Given the description of an element on the screen output the (x, y) to click on. 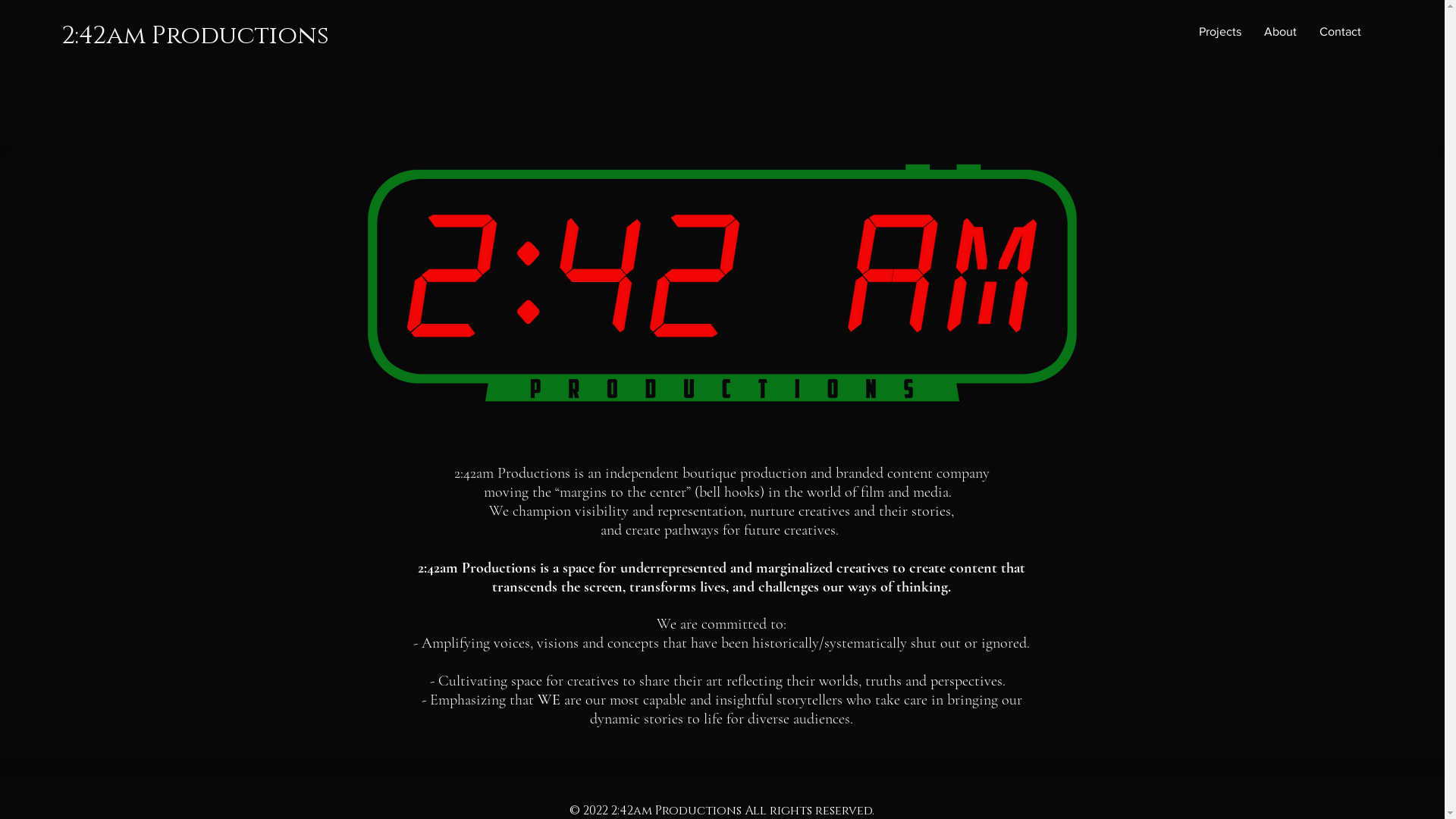
Projects Element type: text (1219, 31)
Contact Element type: text (1340, 31)
About Element type: text (1280, 31)
2:42am Productions Element type: text (195, 35)
